Given the description of an element on the screen output the (x, y) to click on. 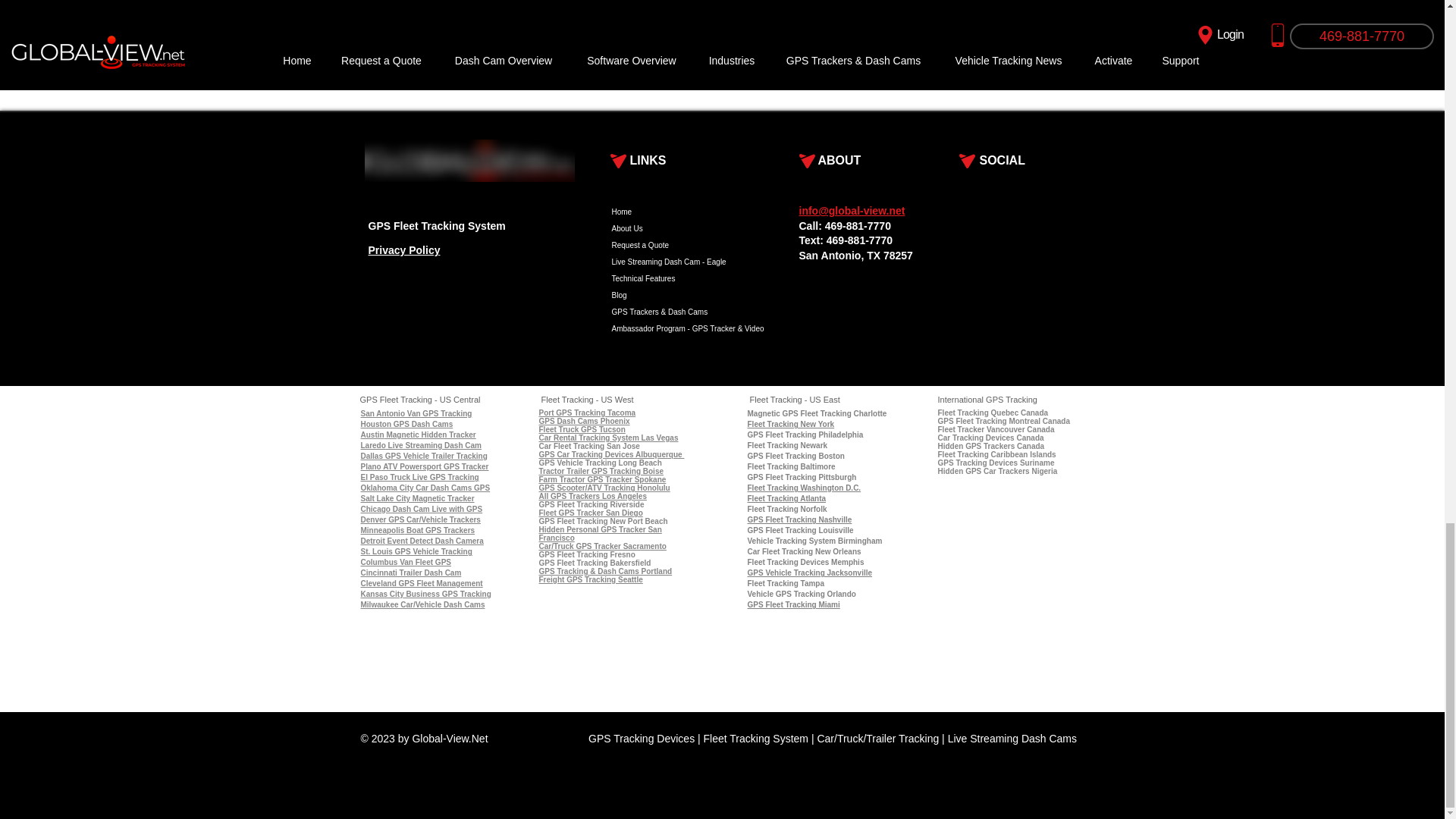
Fleet Tracking at its Finest! (468, 160)
